Given the description of an element on the screen output the (x, y) to click on. 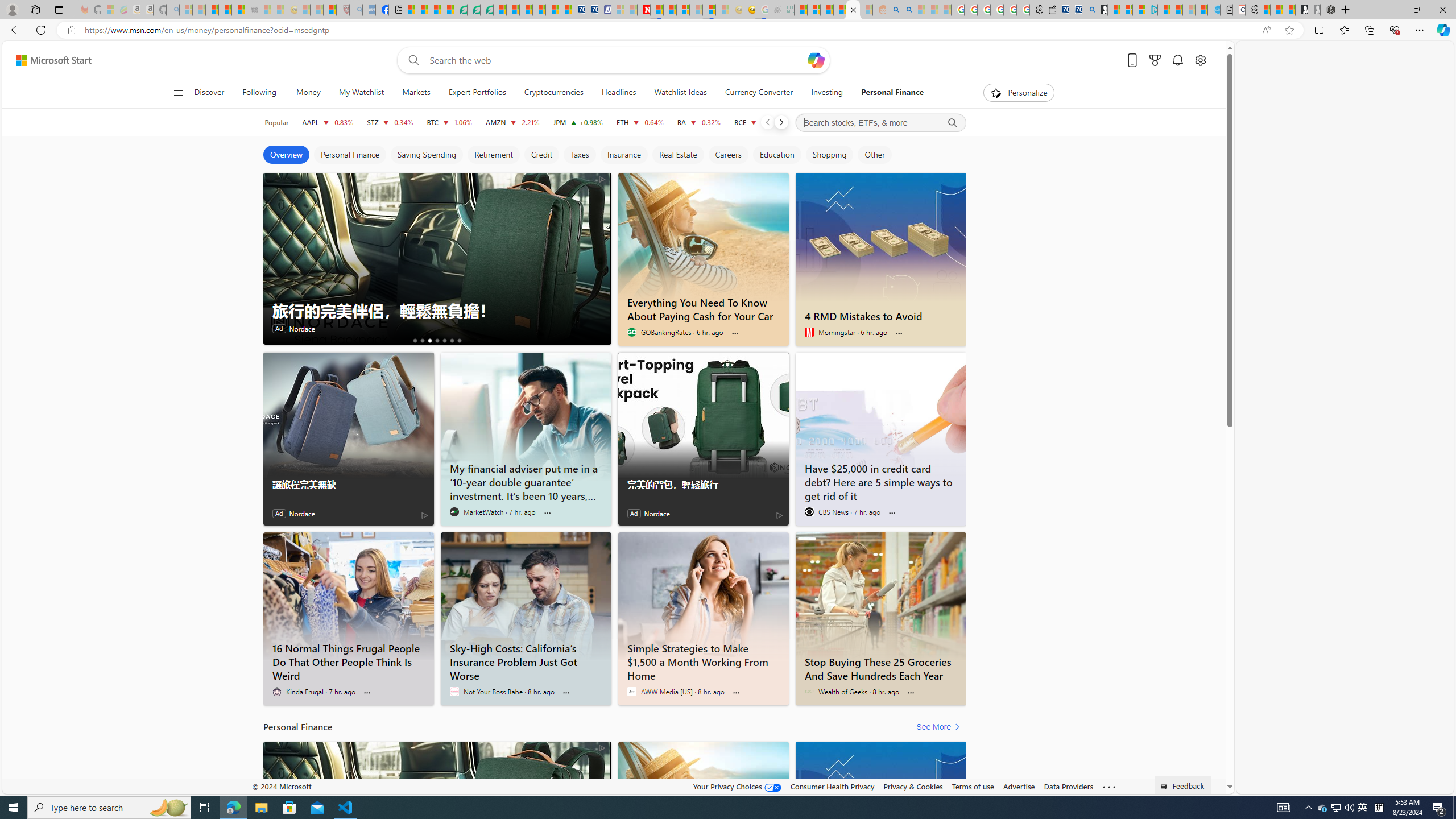
Previous (767, 122)
Class: oneFooter_seeMore-DS-EntryPoint1-1 (1108, 786)
My Watchlist (360, 92)
